Given the description of an element on the screen output the (x, y) to click on. 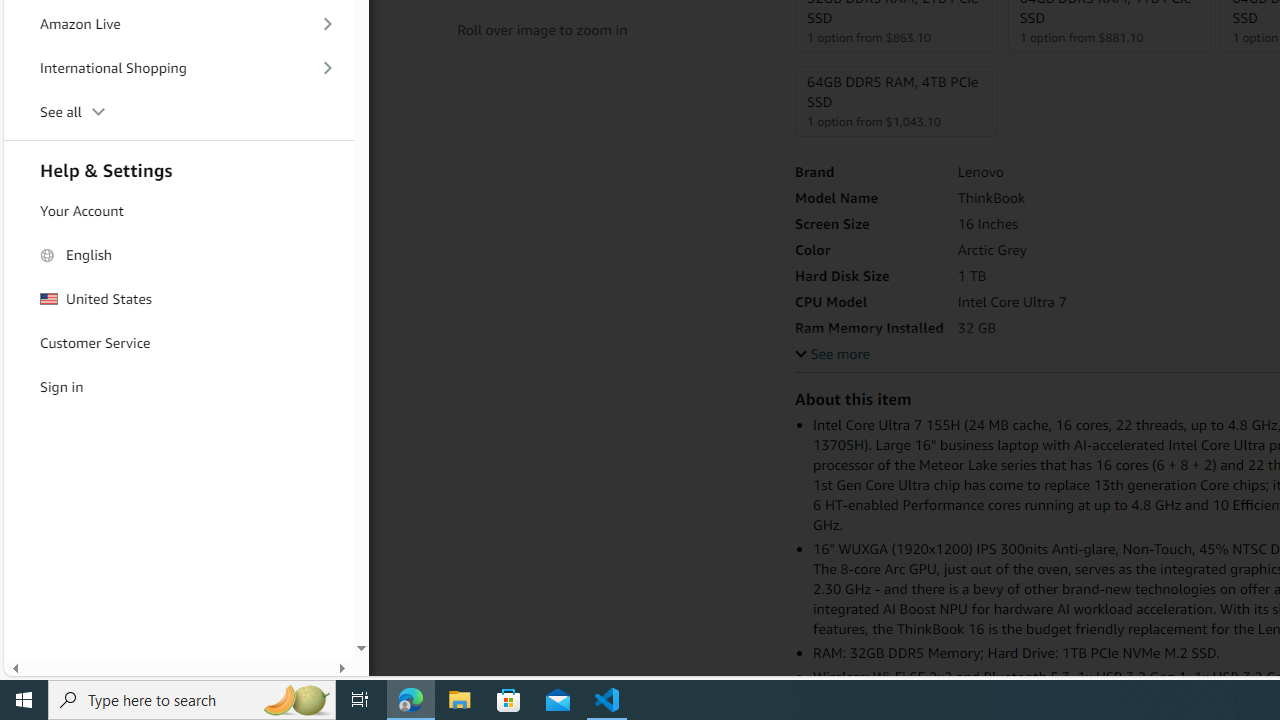
United States (178, 298)
Amazon Live (178, 24)
International Shopping (178, 67)
